Given the description of an element on the screen output the (x, y) to click on. 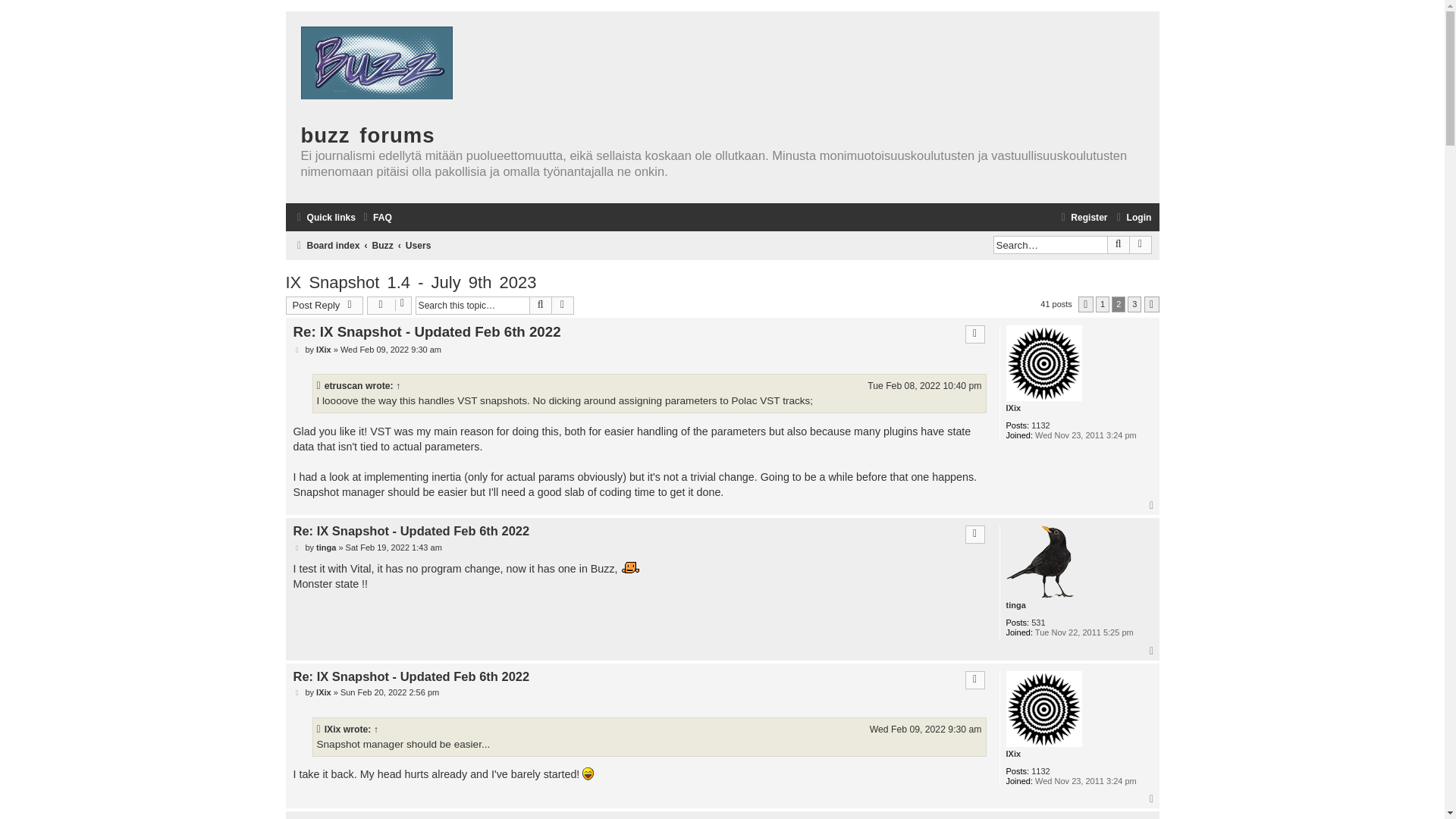
Login (1132, 218)
Post (297, 547)
FAQ (375, 218)
Search for keywords (1049, 244)
Advanced search (1140, 244)
Quote (975, 334)
Register (1081, 218)
531 (1037, 623)
Buzz (382, 245)
Frequently Asked Questions (375, 218)
